Given the description of an element on the screen output the (x, y) to click on. 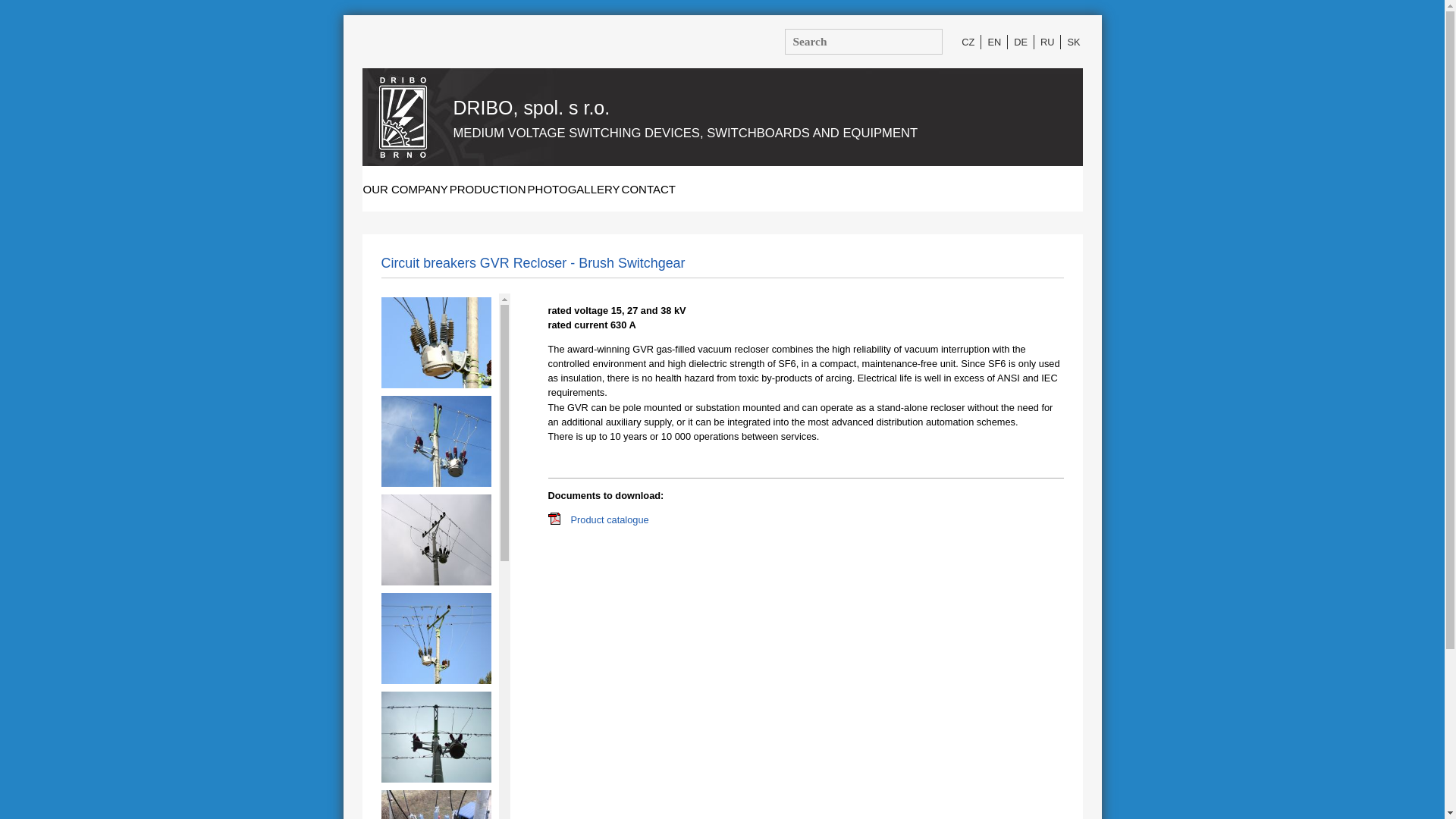
Product catalogue (553, 521)
OUR COMPANY (405, 189)
GVR Recloser - Brush Switchgear (435, 680)
GVR Recloser - Brush Switchgear (435, 778)
PRODUCTION (487, 189)
DE (1020, 42)
EN (994, 42)
search (952, 59)
CZ (967, 42)
